Given the description of an element on the screen output the (x, y) to click on. 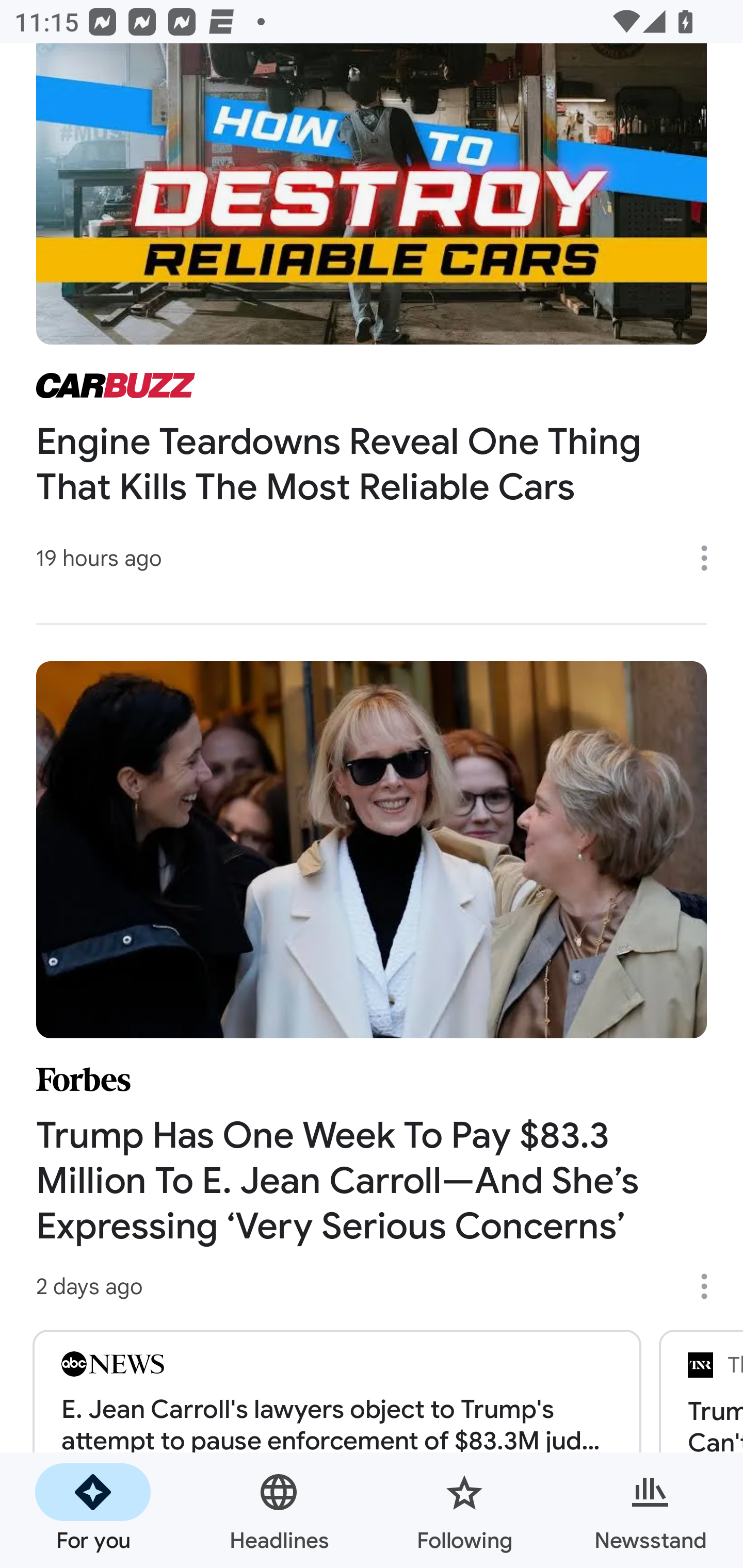
More options (711, 558)
More options (711, 1286)
For you (92, 1509)
Headlines (278, 1509)
Following (464, 1509)
Newsstand (650, 1509)
